Given the description of an element on the screen output the (x, y) to click on. 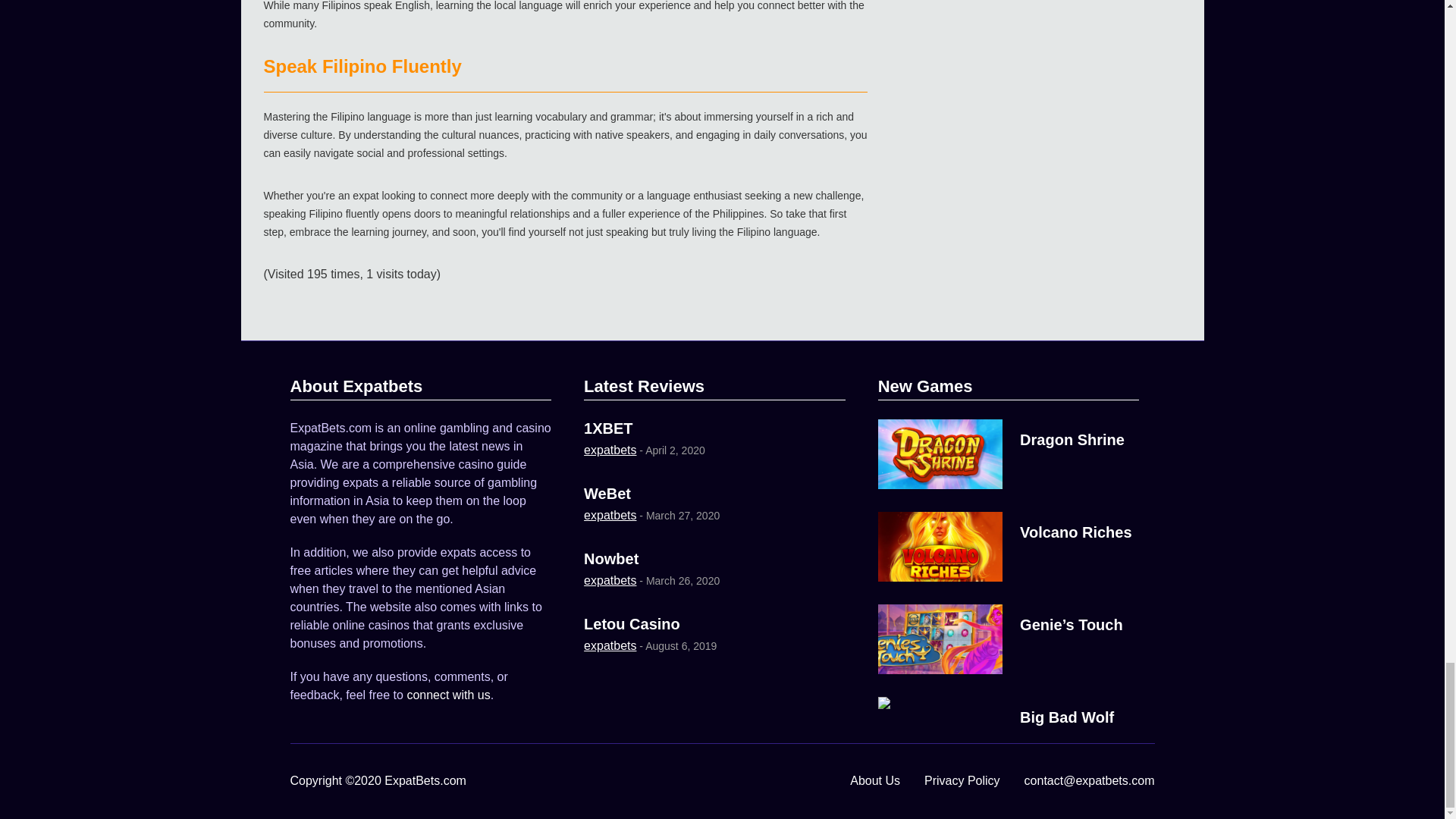
1XBET (607, 428)
Posts by expatbets (609, 514)
Posts by expatbets (609, 449)
Letou Casino (631, 623)
Posts by expatbets (609, 645)
WeBet (606, 493)
Nowbet (611, 558)
Posts by expatbets (609, 580)
